Given the description of an element on the screen output the (x, y) to click on. 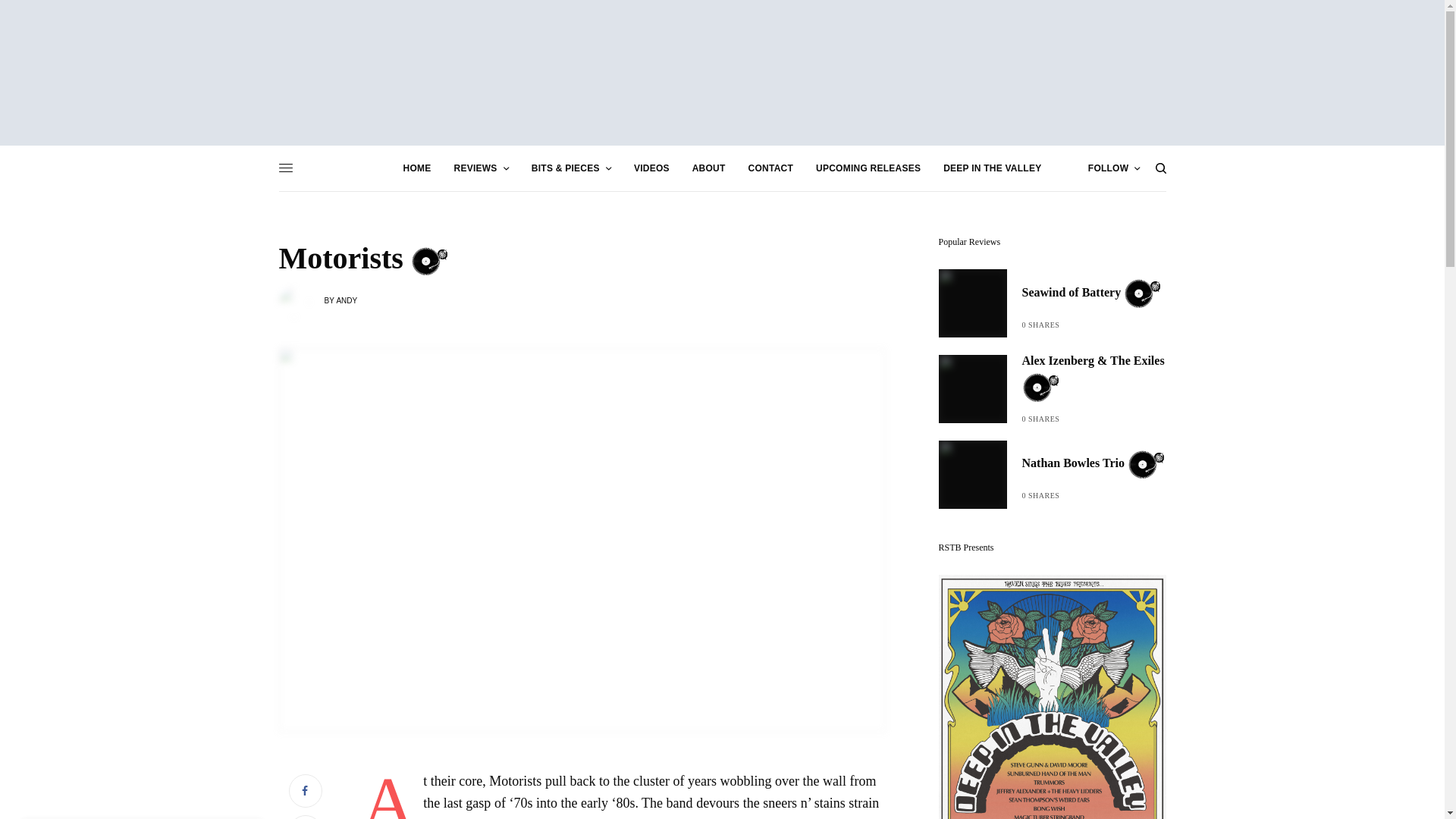
Raven Sings The Blues (721, 72)
DEEP IN THE VALLEY (992, 167)
Nathan Bowles Trio  (1094, 464)
CONTACT (770, 167)
FOLLOW (1113, 167)
Seawind of Battery  (1091, 293)
ANDY (346, 299)
REVIEWS (481, 167)
UPCOMING RELEASES (867, 167)
Posts by Andy (346, 299)
